Given the description of an element on the screen output the (x, y) to click on. 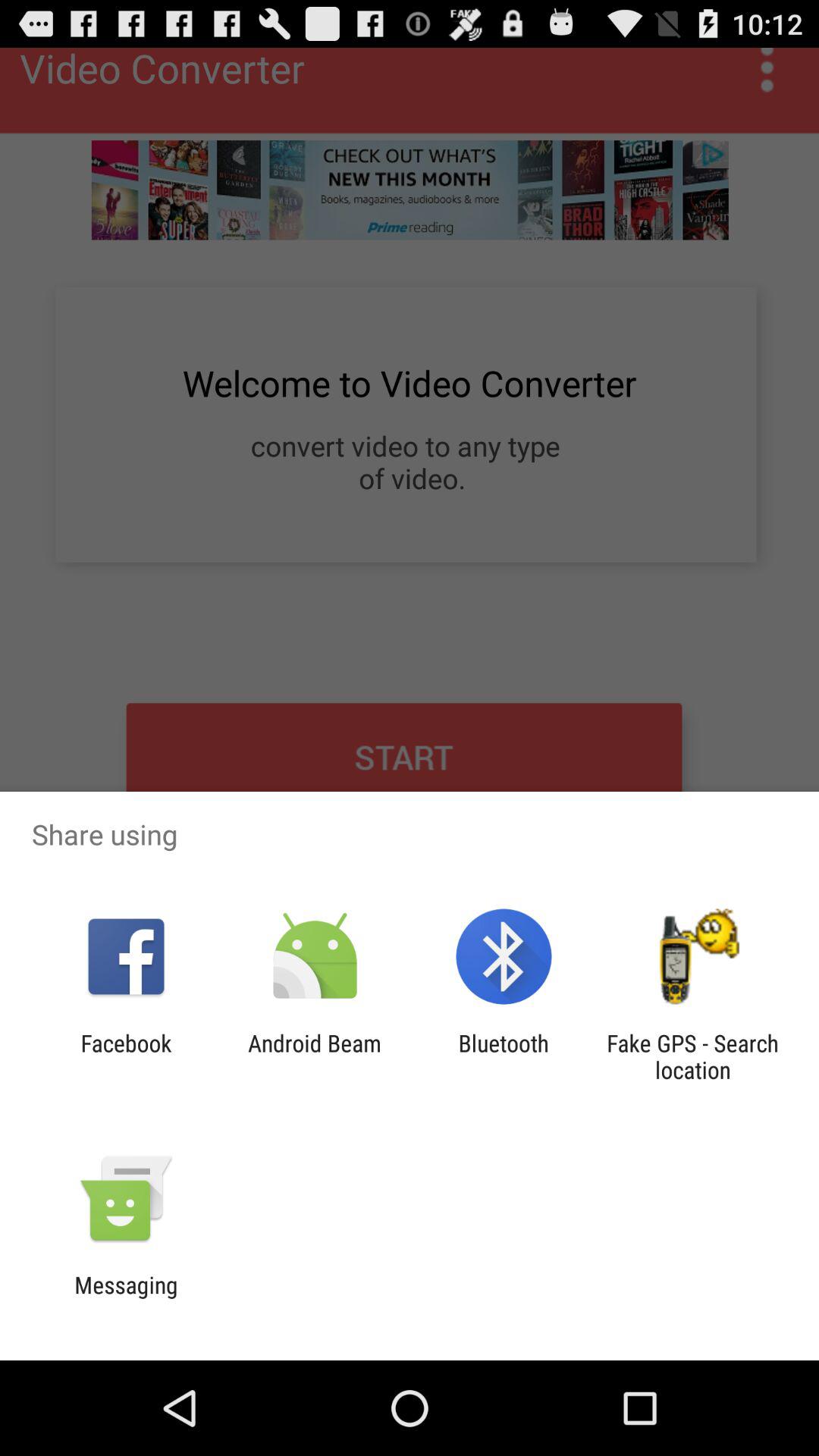
launch the fake gps search icon (692, 1056)
